Given the description of an element on the screen output the (x, y) to click on. 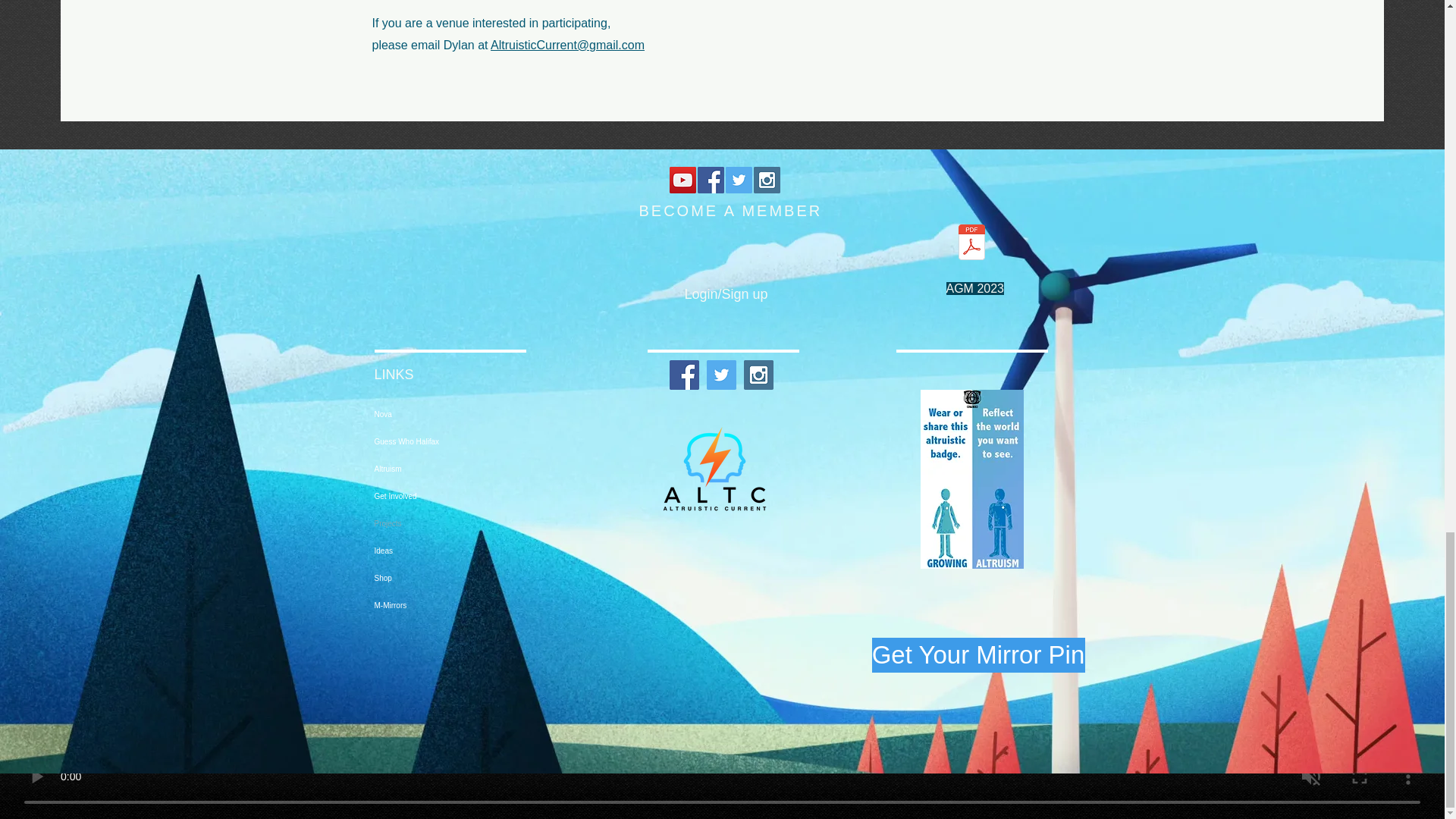
BECOME A MEMBER (730, 210)
Get Involved (446, 496)
Altruism (446, 469)
Guess Who Halifax (446, 441)
Nova (446, 414)
Projects (446, 523)
